Given the description of an element on the screen output the (x, y) to click on. 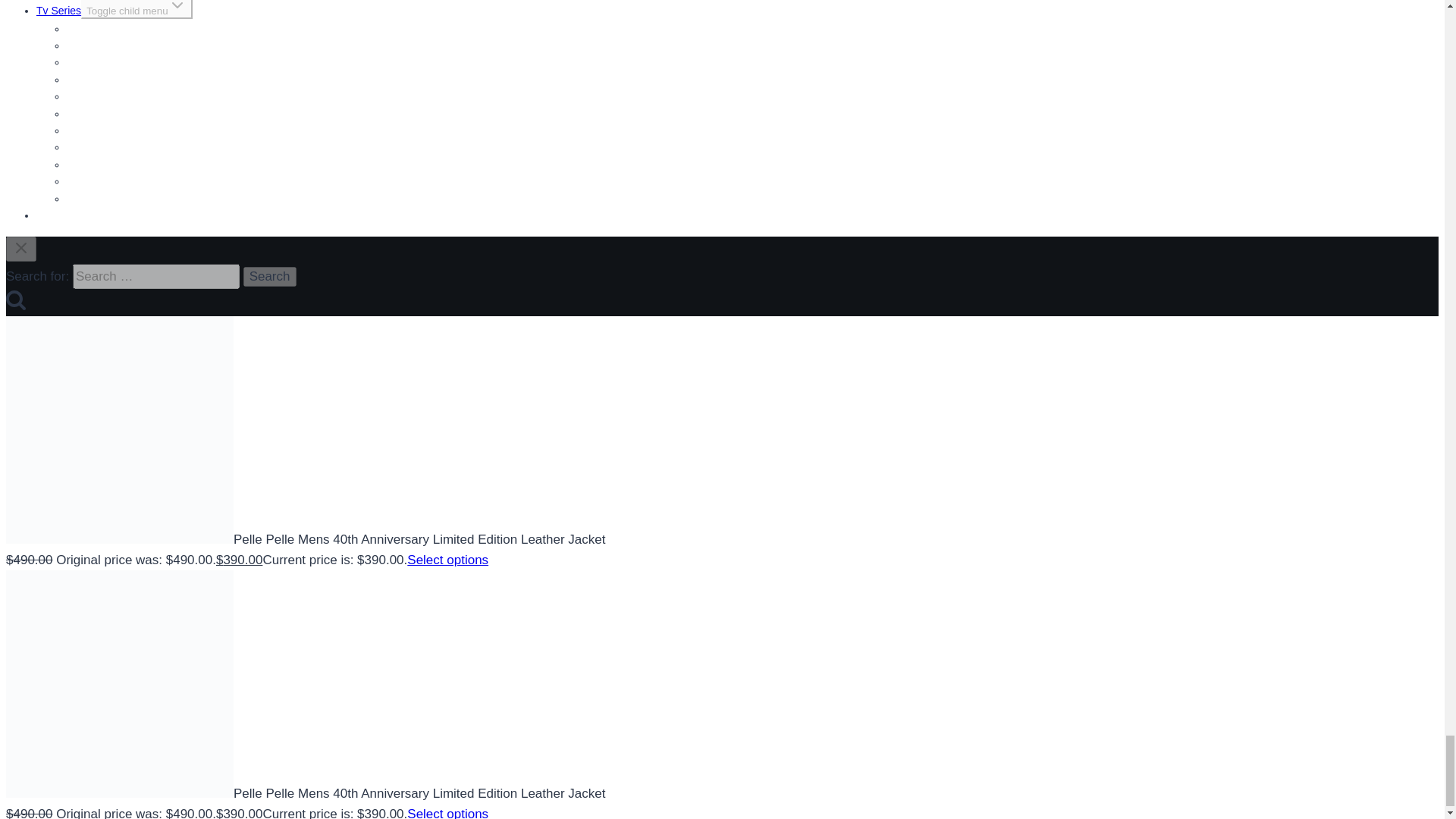
Search (270, 276)
Search (270, 276)
